Given the description of an element on the screen output the (x, y) to click on. 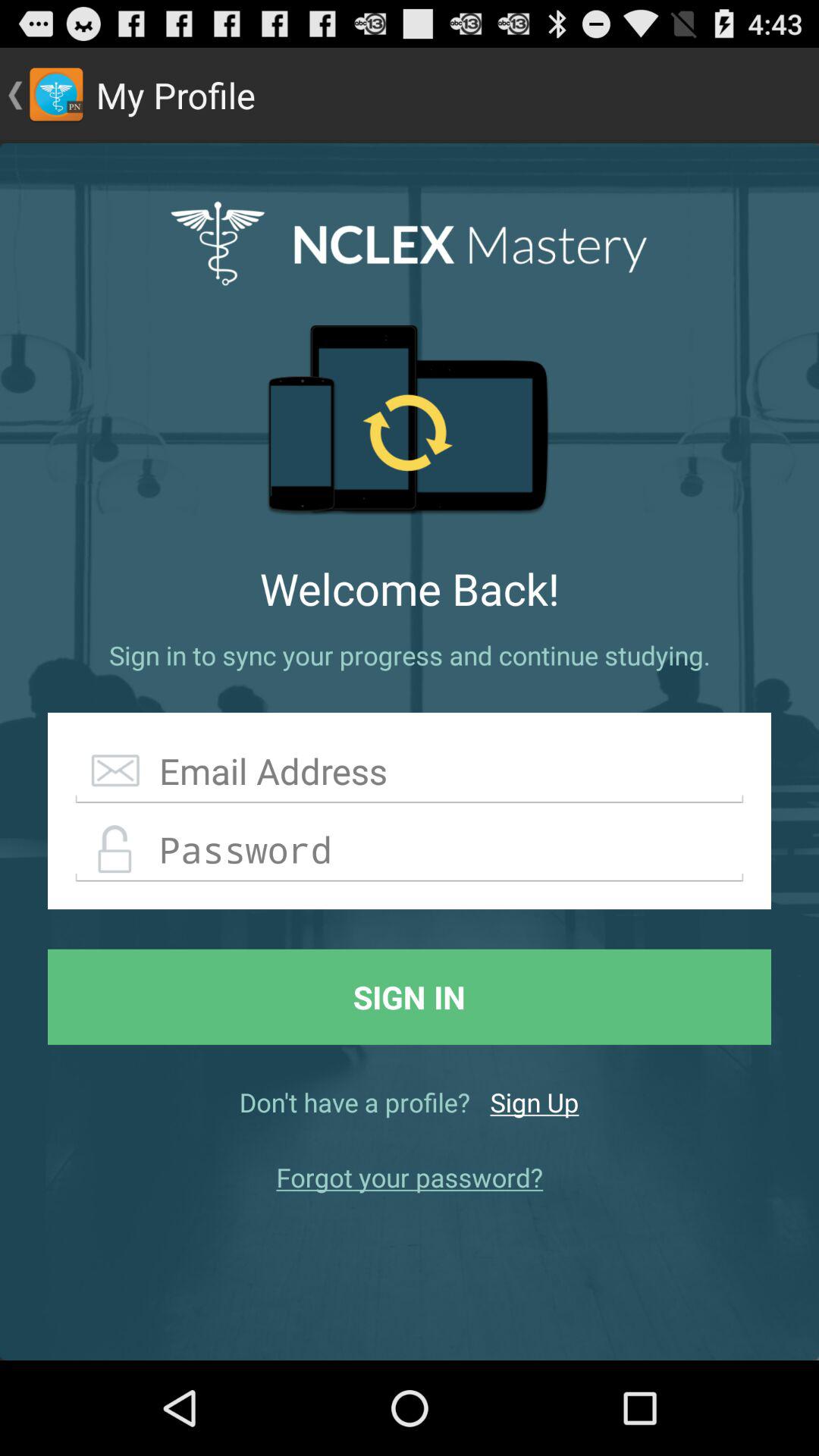
select icon below don t have app (409, 1176)
